Given the description of an element on the screen output the (x, y) to click on. 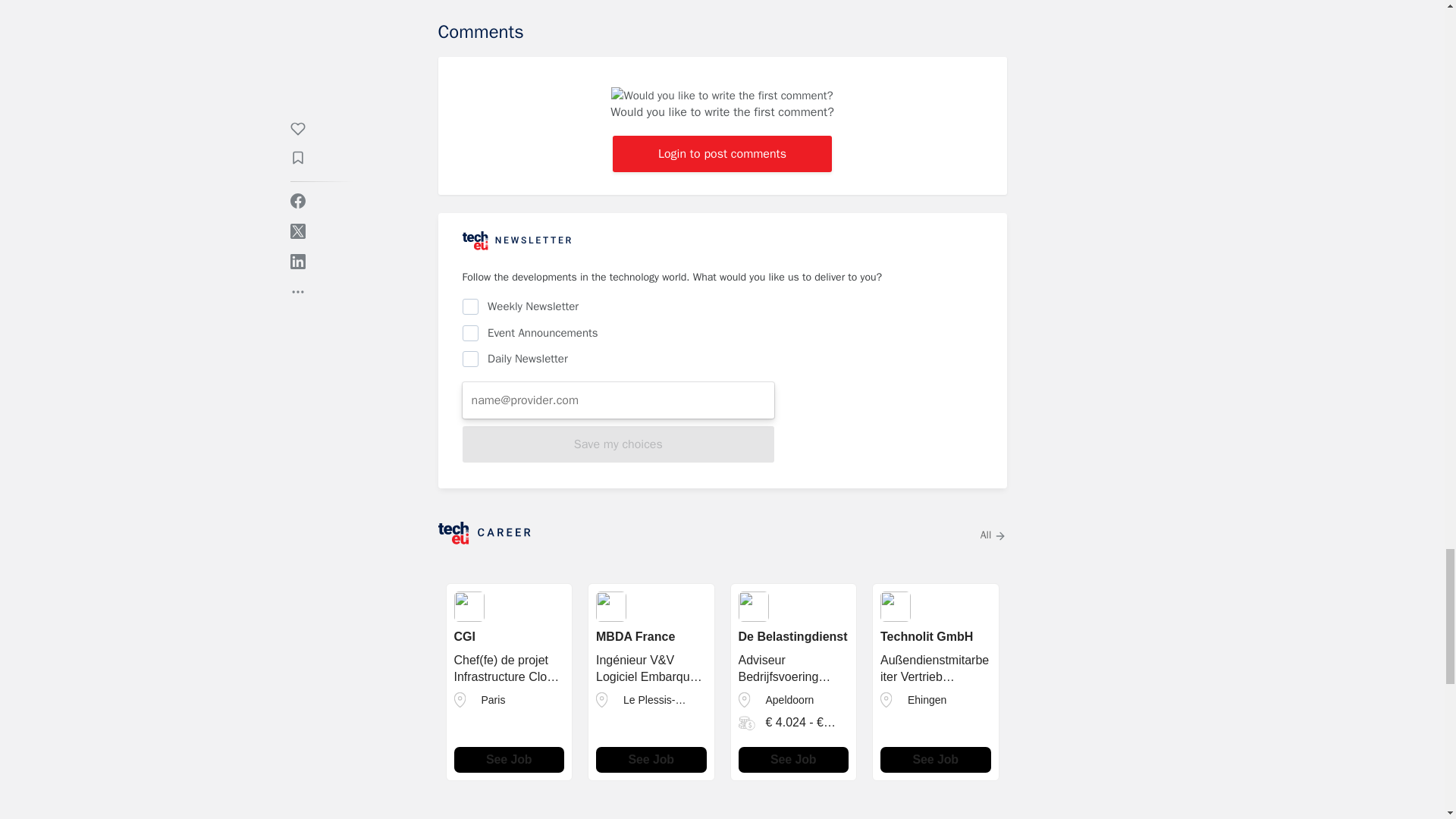
Like (467, 0)
